Given the description of an element on the screen output the (x, y) to click on. 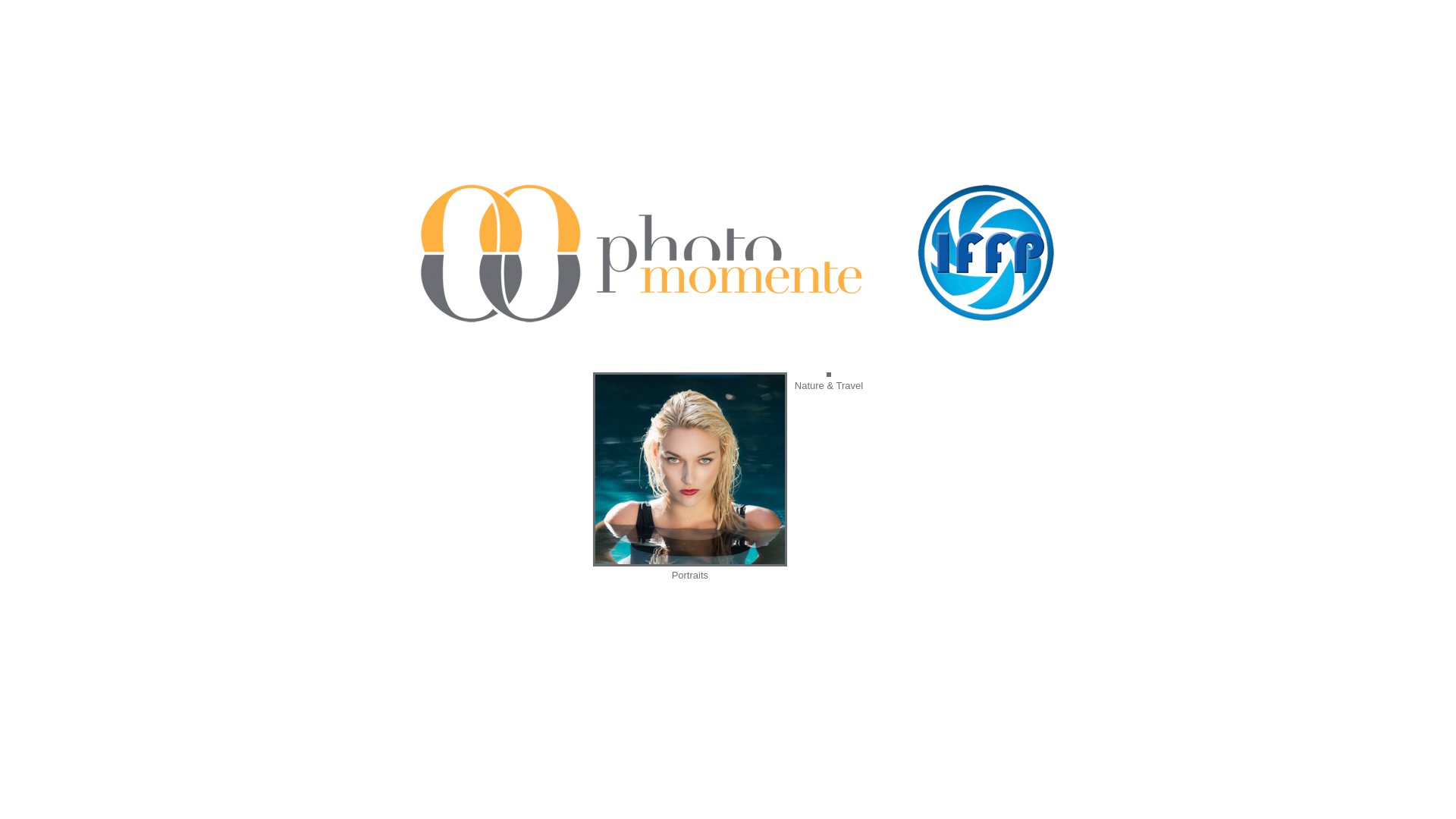
Portraits Element type: text (689, 573)
Nature & Travel Element type: text (828, 383)
